Given the description of an element on the screen output the (x, y) to click on. 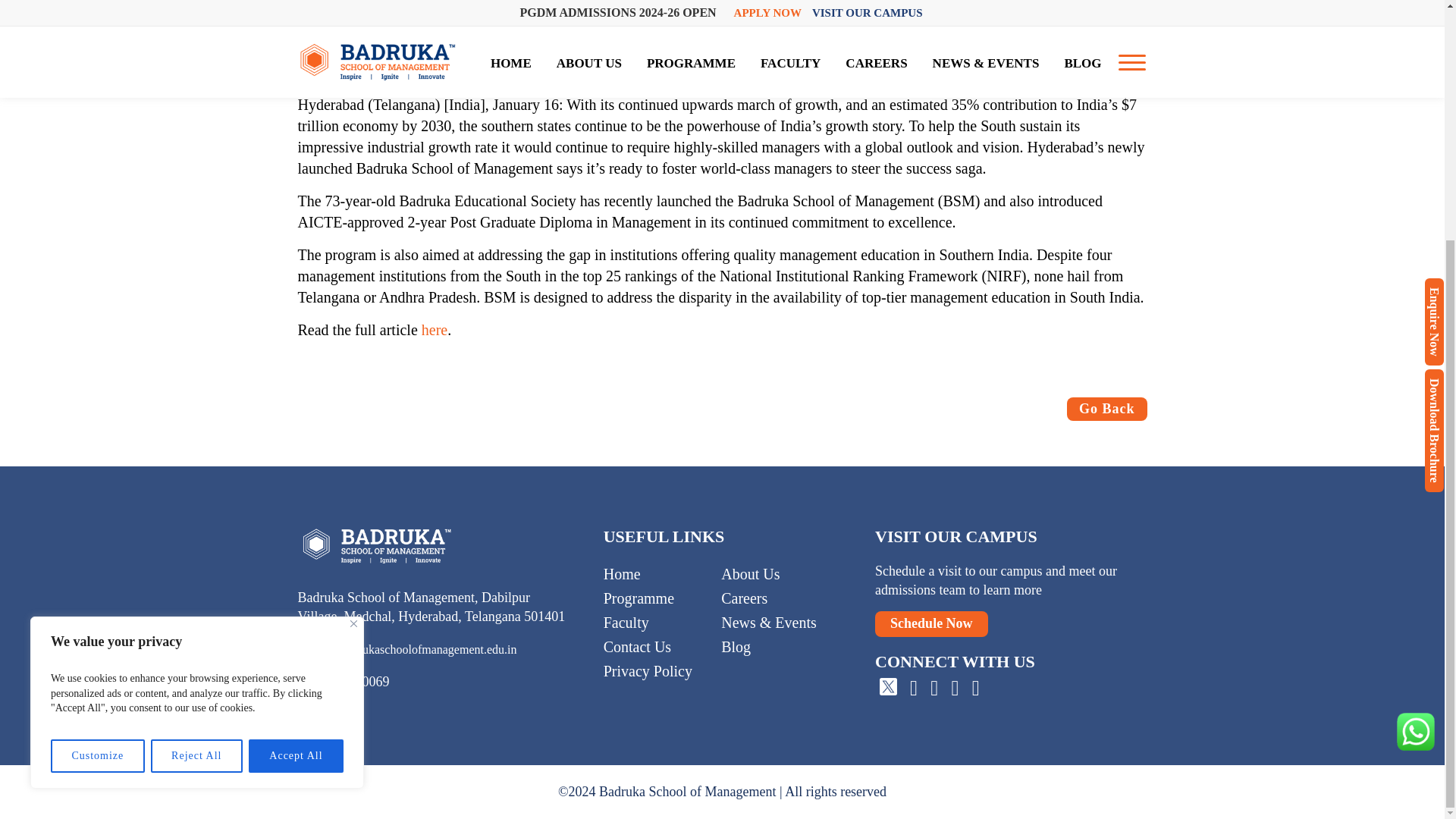
Whatsapp (1415, 401)
Reject All (197, 425)
Customize (97, 425)
Accept All (295, 425)
